Given the description of an element on the screen output the (x, y) to click on. 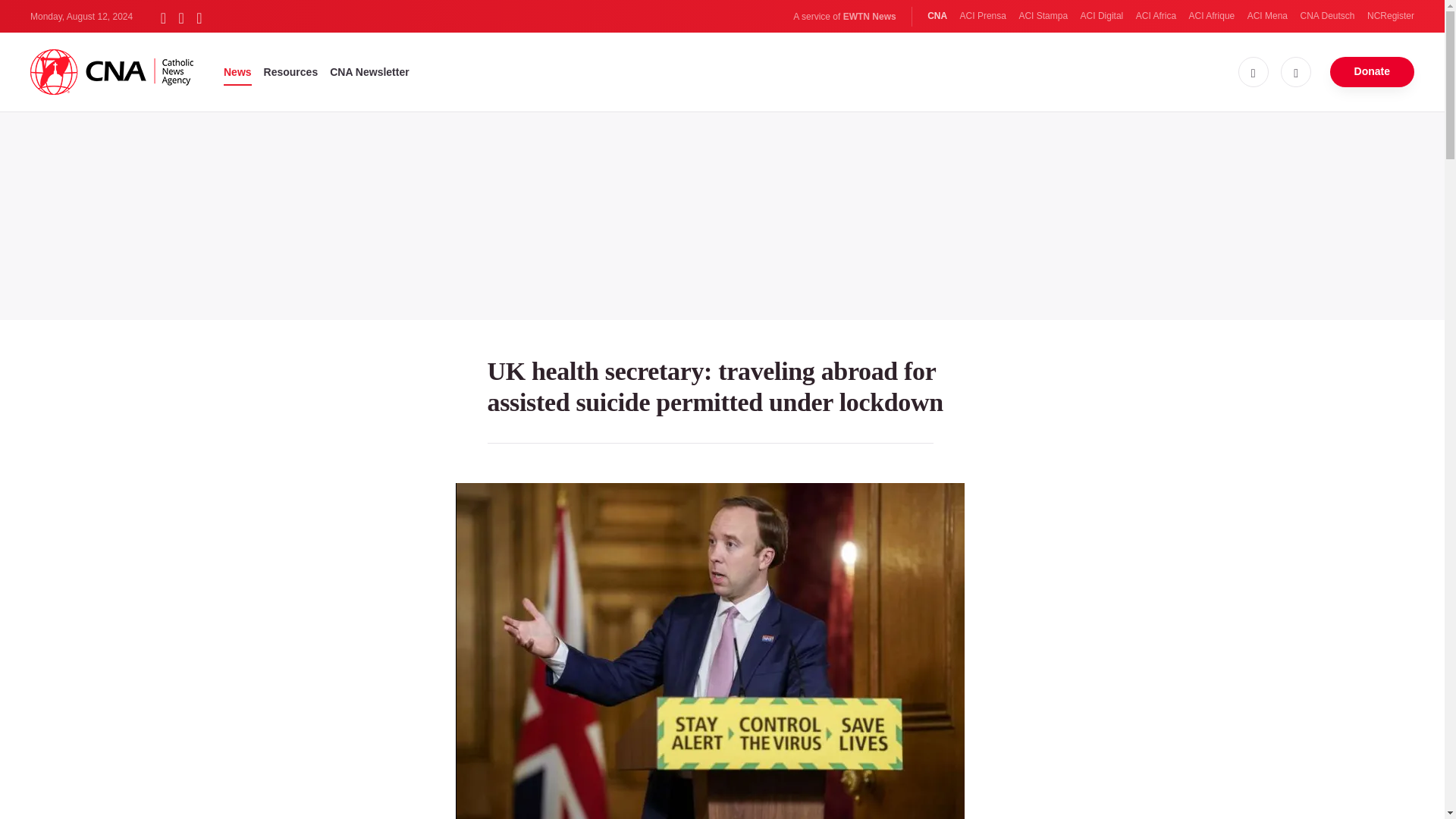
ACI Mena (1267, 16)
Resources (290, 71)
CNA (937, 16)
EWTN News (869, 16)
ACI Prensa (982, 16)
ACI Africa (1155, 16)
EWTN News (869, 16)
CNA Deutsch (1327, 16)
ACI Afrique (1211, 16)
